Given the description of an element on the screen output the (x, y) to click on. 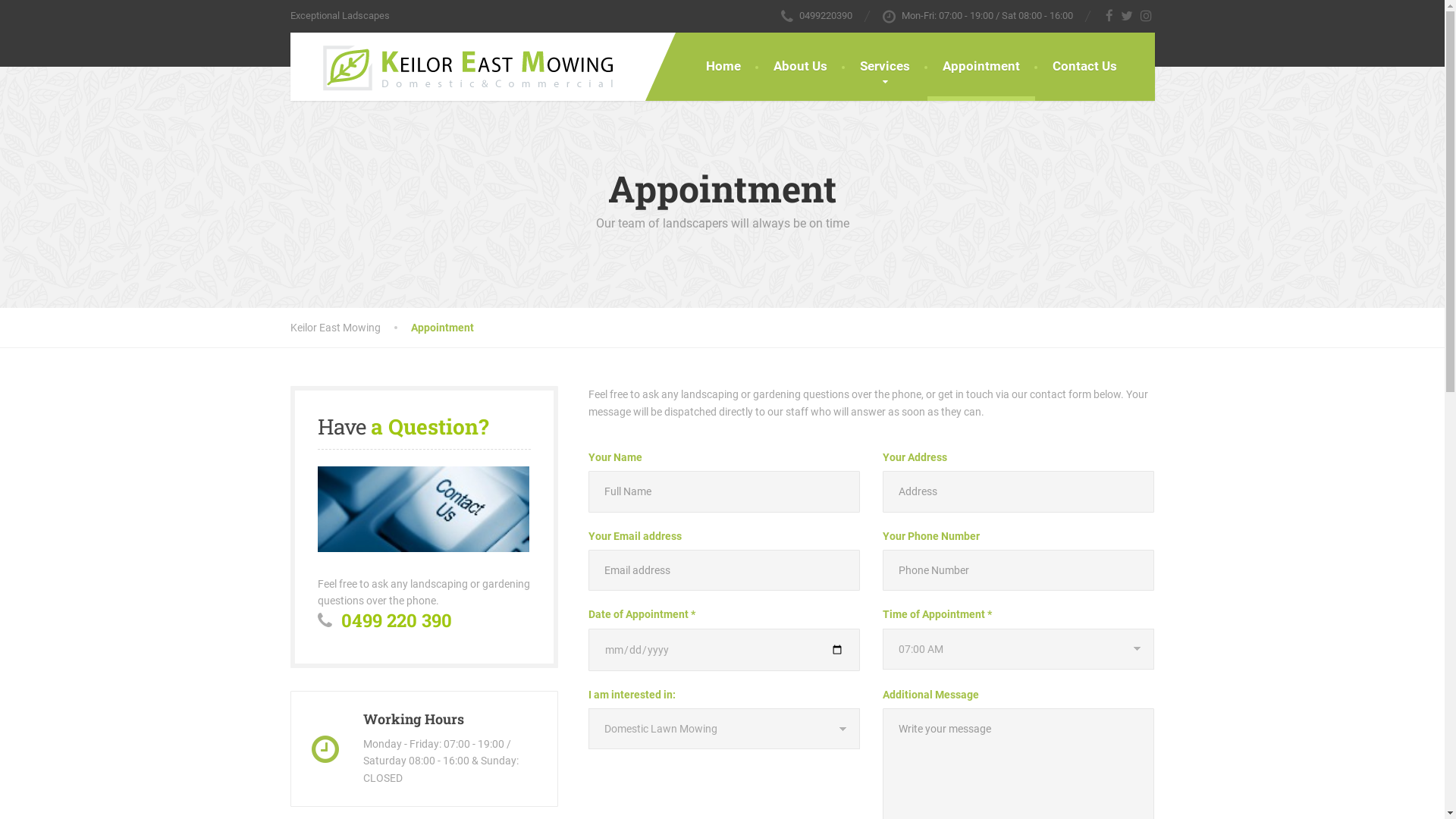
Home Element type: text (722, 66)
0499220390 Element type: text (816, 15)
Appointment Element type: text (980, 66)
Keilor East Mowing Element type: text (349, 327)
Contact Us Element type: text (1084, 66)
Keilor East Mowing Element type: hover (452, 66)
Services Element type: text (884, 66)
About Us Element type: text (800, 66)
